Given the description of an element on the screen output the (x, y) to click on. 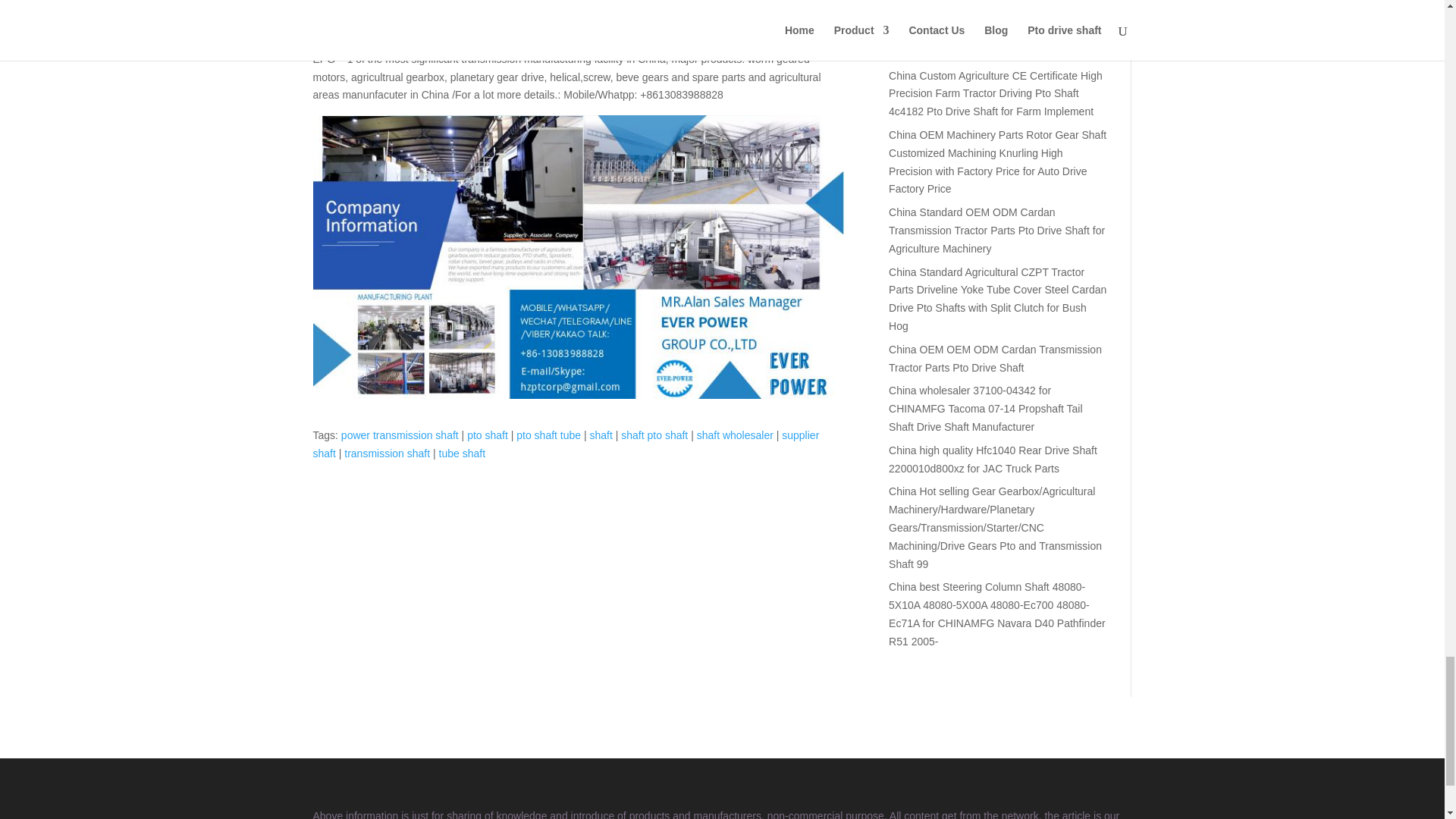
power transmission shaft (399, 435)
shaft (600, 435)
pto shaft (487, 435)
shaft pto shaft (654, 435)
supplier shaft (565, 444)
pto shaft tube (548, 435)
transmission shaft (386, 453)
shaft wholesaler (735, 435)
tube shaft (462, 453)
